Given the description of an element on the screen output the (x, y) to click on. 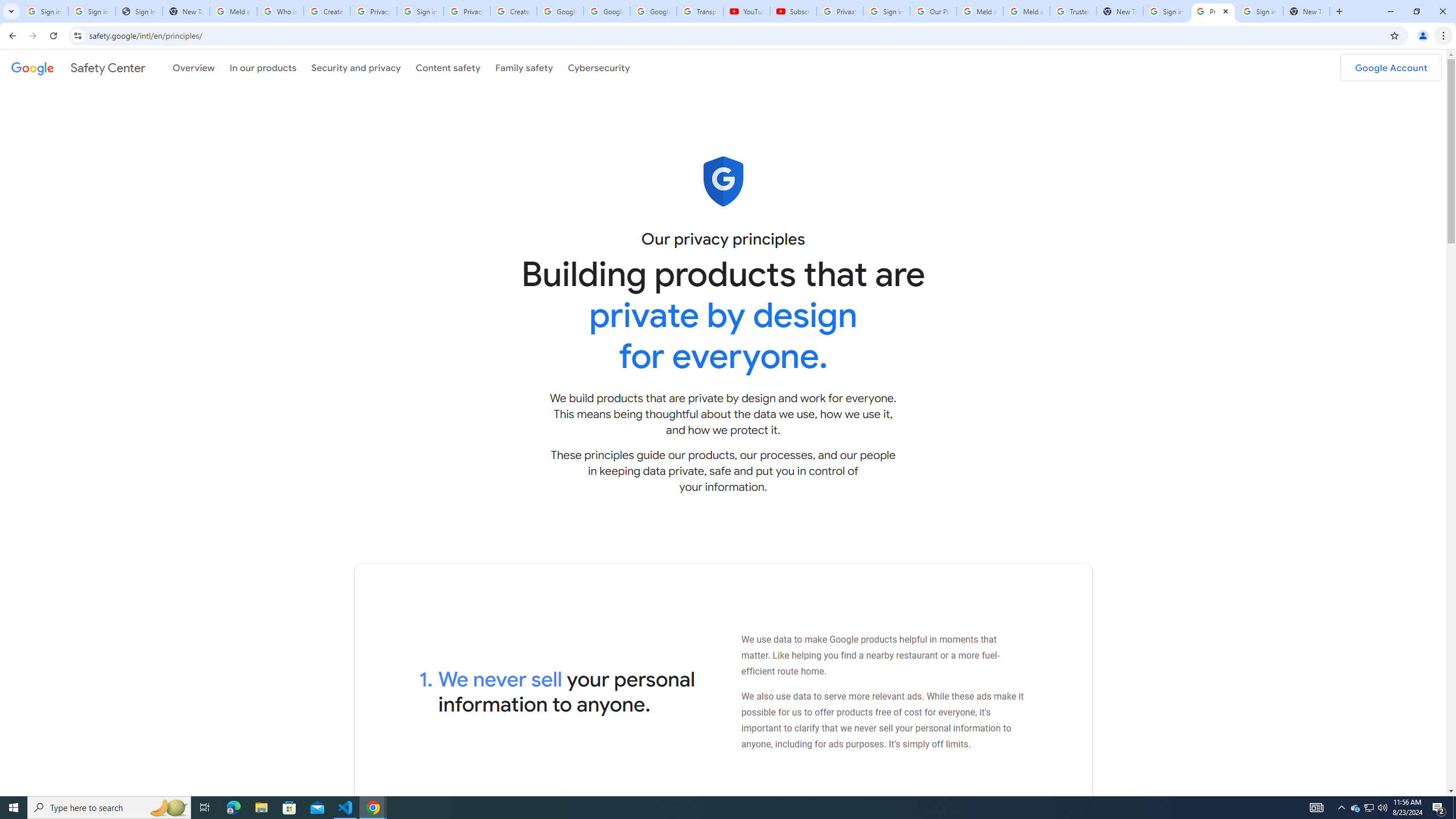
Privacy Principles - Google Safety Center (1213, 11)
Family safety (523, 67)
